Given the description of an element on the screen output the (x, y) to click on. 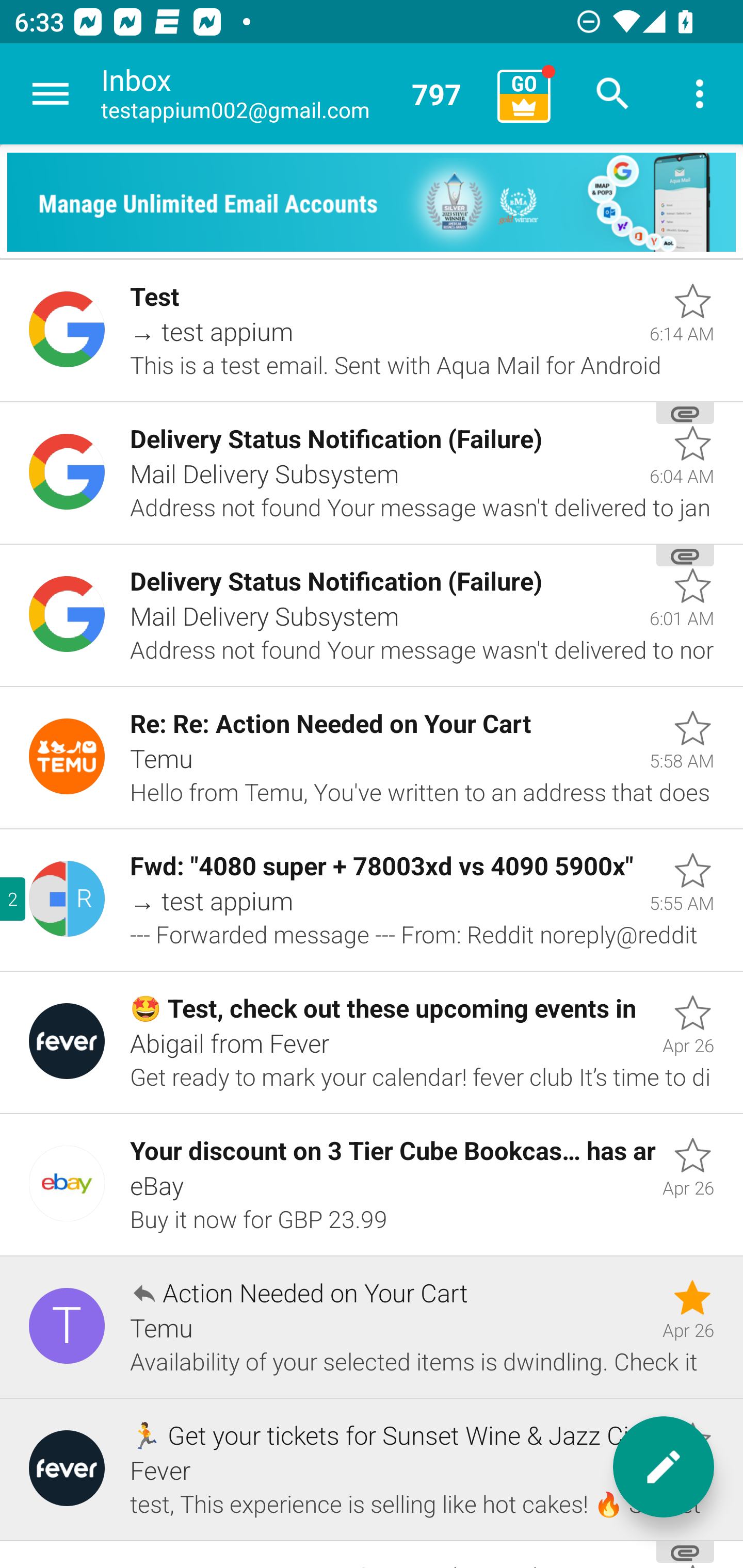
Navigate up (50, 93)
Inbox testappium002@gmail.com 797 (291, 93)
Search (612, 93)
More options (699, 93)
New message (663, 1466)
